Given the description of an element on the screen output the (x, y) to click on. 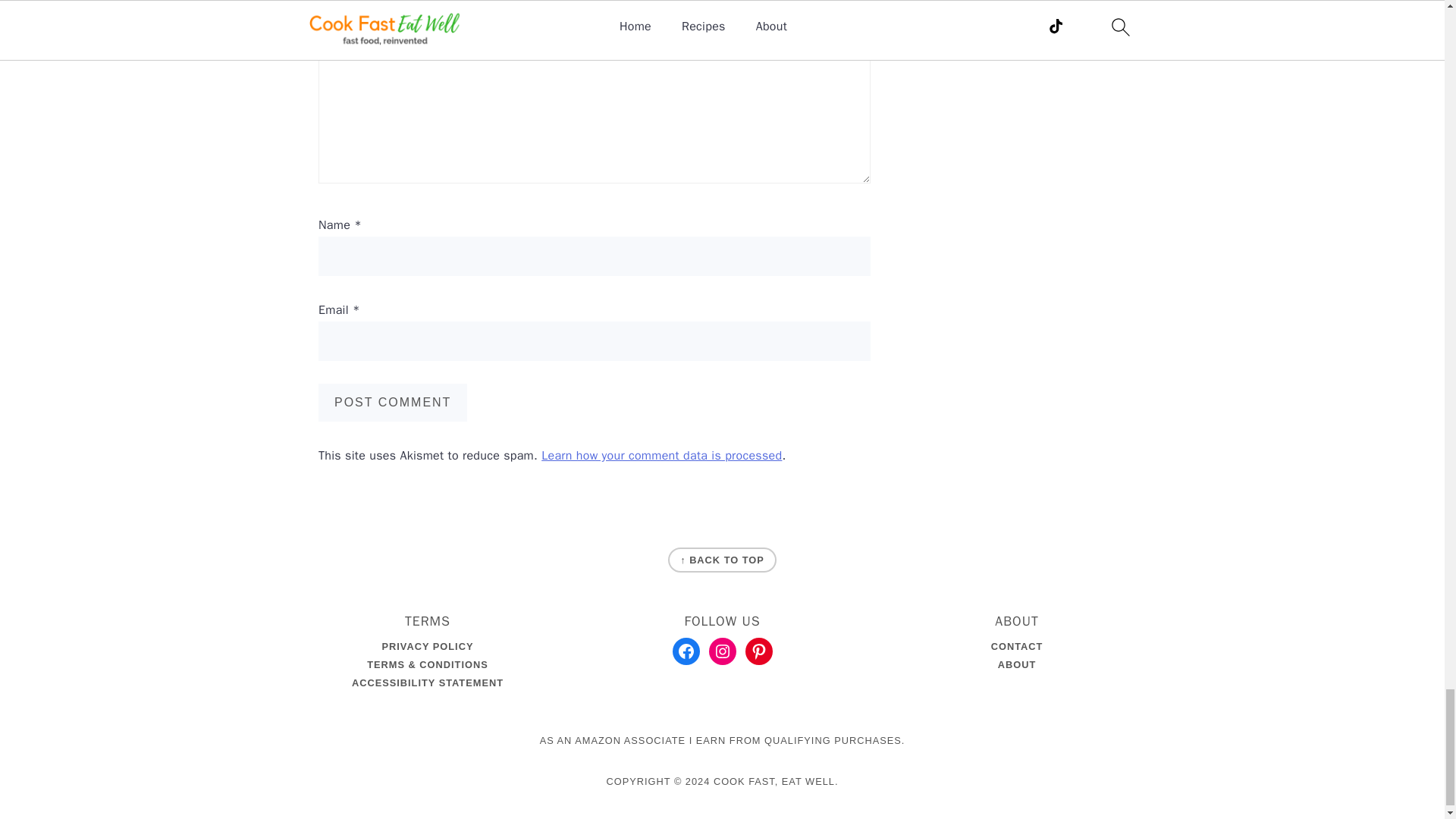
Learn how your comment data is processed (661, 455)
Post Comment (392, 402)
Post Comment (392, 402)
